Given the description of an element on the screen output the (x, y) to click on. 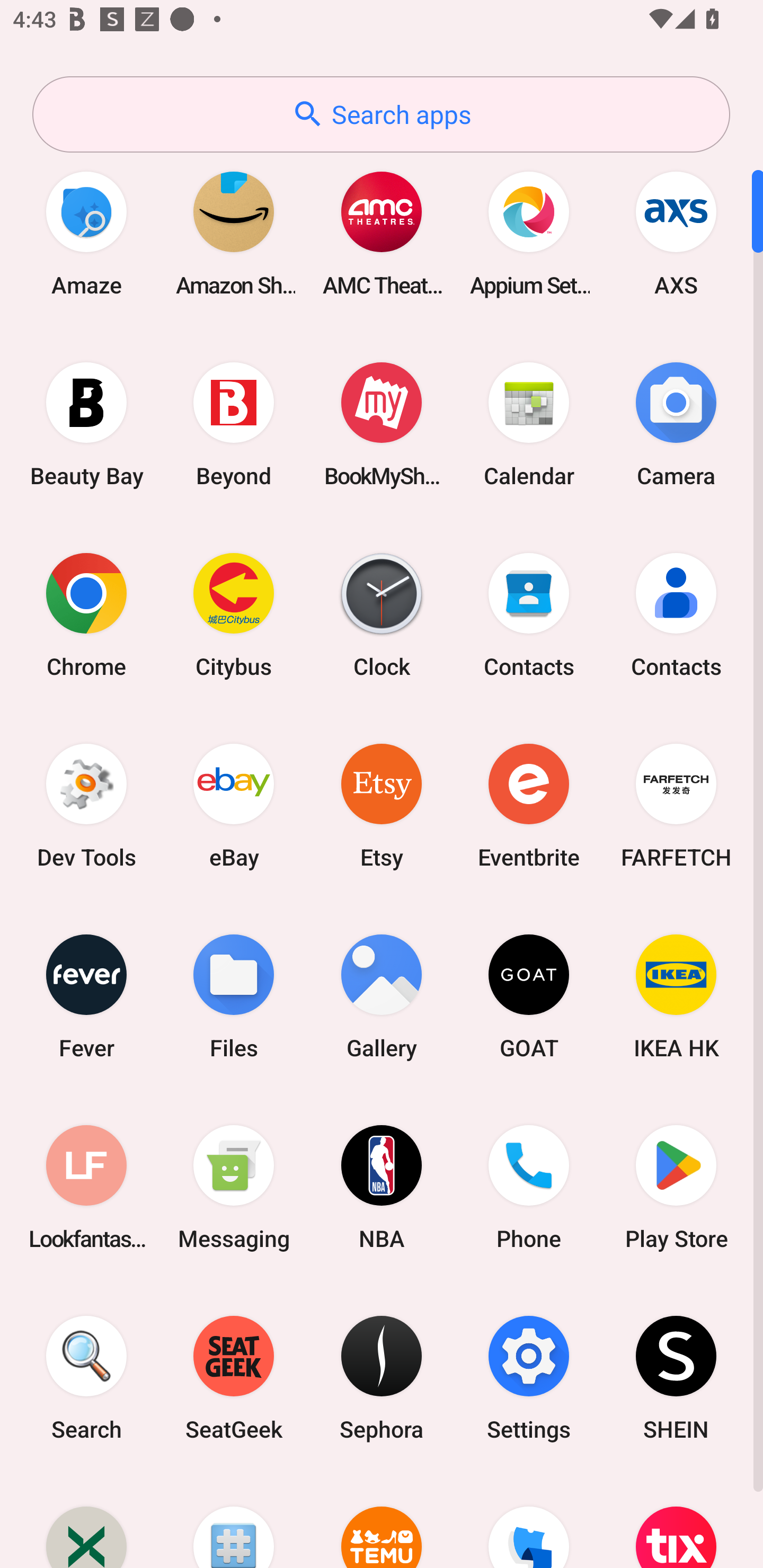
  Search apps (381, 114)
Amaze (86, 233)
Amazon Shopping (233, 233)
AMC Theatres (381, 233)
Appium Settings (528, 233)
AXS (676, 233)
Beauty Bay (86, 424)
Beyond (233, 424)
BookMyShow (381, 424)
Calendar (528, 424)
Camera (676, 424)
Chrome (86, 614)
Citybus (233, 614)
Clock (381, 614)
Contacts (528, 614)
Contacts (676, 614)
Dev Tools (86, 805)
eBay (233, 805)
Etsy (381, 805)
Eventbrite (528, 805)
FARFETCH (676, 805)
Fever (86, 996)
Files (233, 996)
Gallery (381, 996)
GOAT (528, 996)
IKEA HK (676, 996)
Lookfantastic (86, 1186)
Messaging (233, 1186)
NBA (381, 1186)
Phone (528, 1186)
Play Store (676, 1186)
Search (86, 1377)
SeatGeek (233, 1377)
Sephora (381, 1377)
Settings (528, 1377)
SHEIN (676, 1377)
StockX (86, 1520)
Superuser (233, 1520)
Temu (381, 1520)
TickPick (528, 1520)
TodayTix (676, 1520)
